Given the description of an element on the screen output the (x, y) to click on. 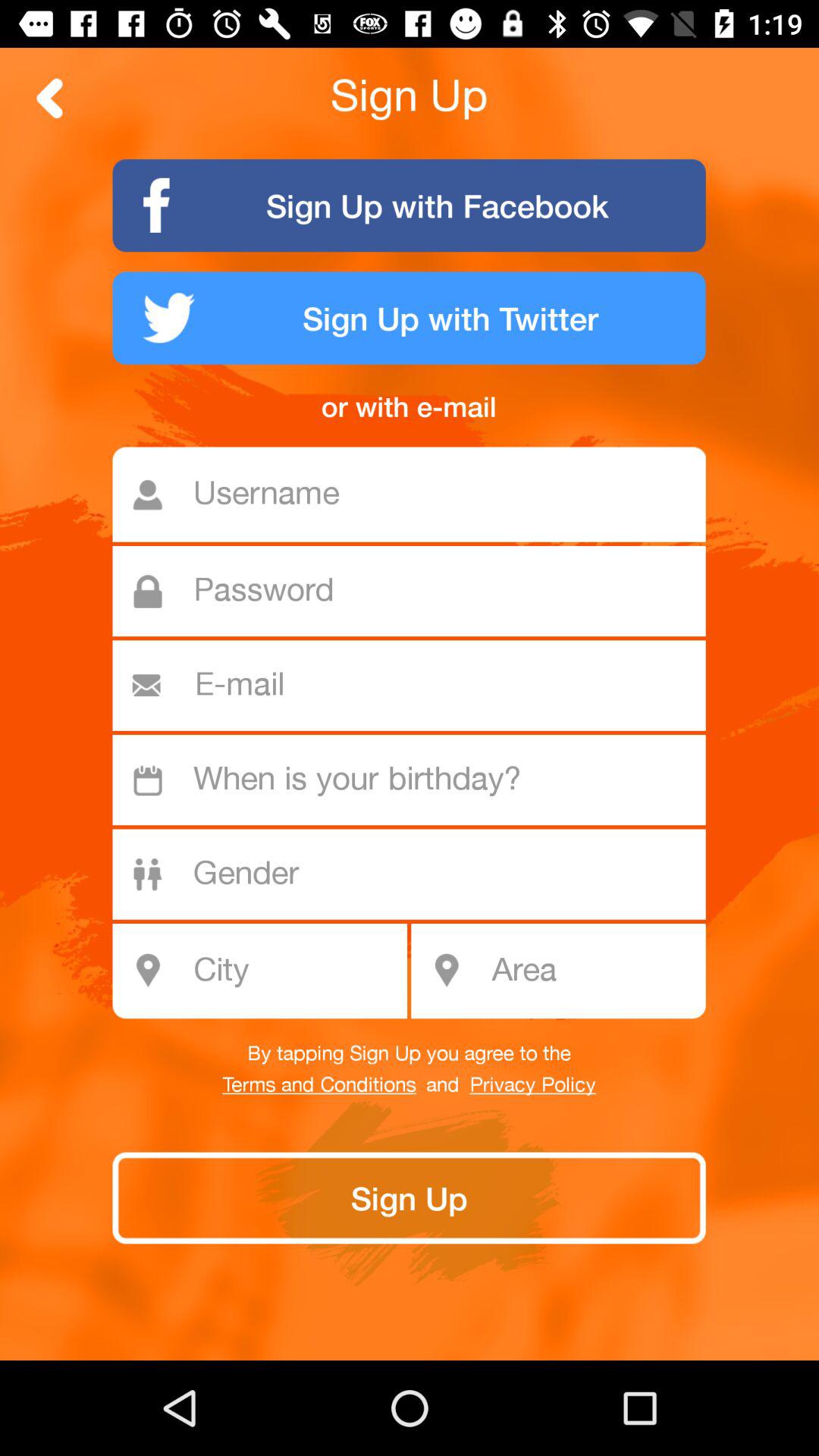
select your gender (417, 874)
